Given the description of an element on the screen output the (x, y) to click on. 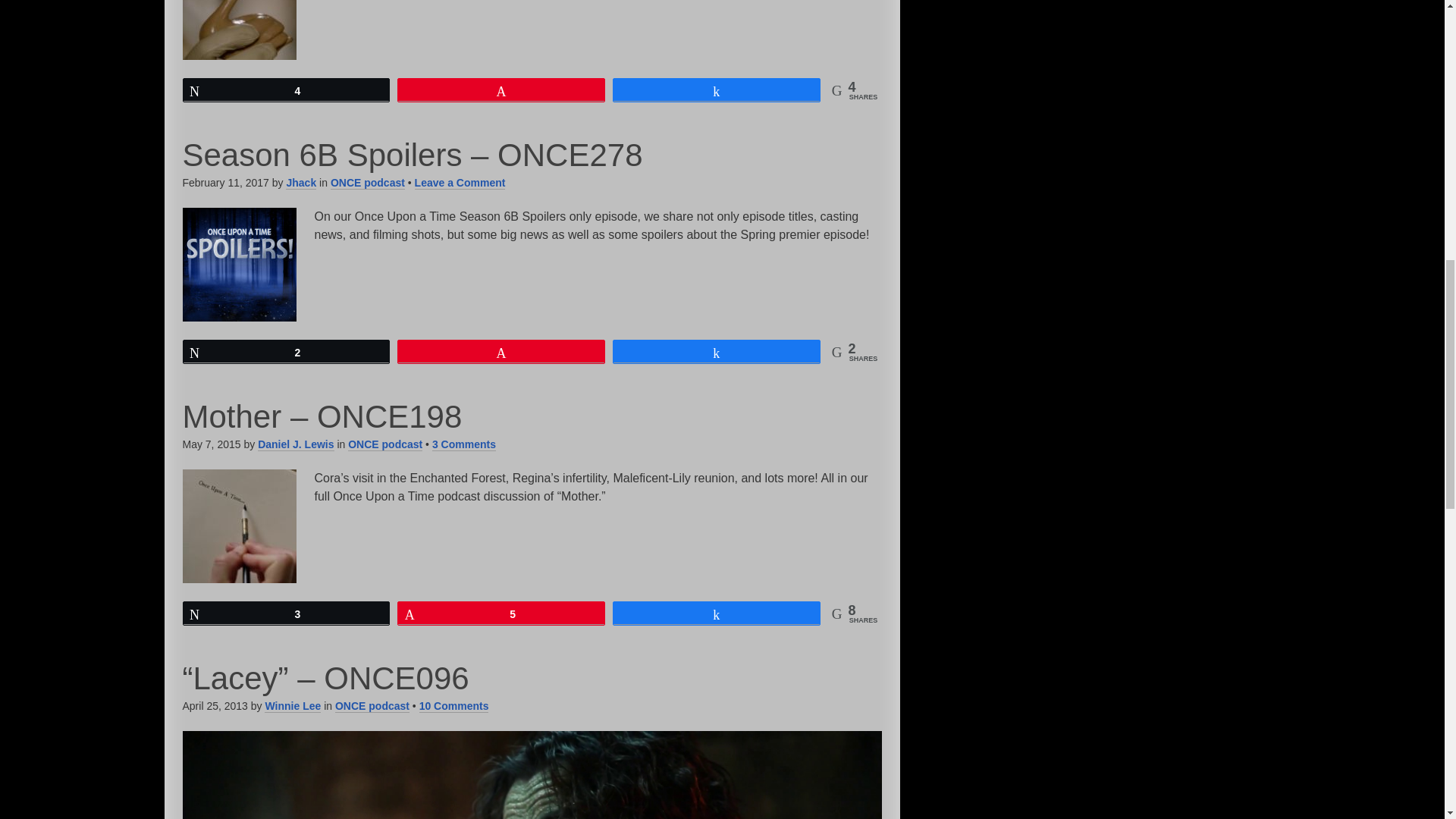
Jhack (300, 182)
4 (286, 89)
ONCE podcast (367, 182)
